Given the description of an element on the screen output the (x, y) to click on. 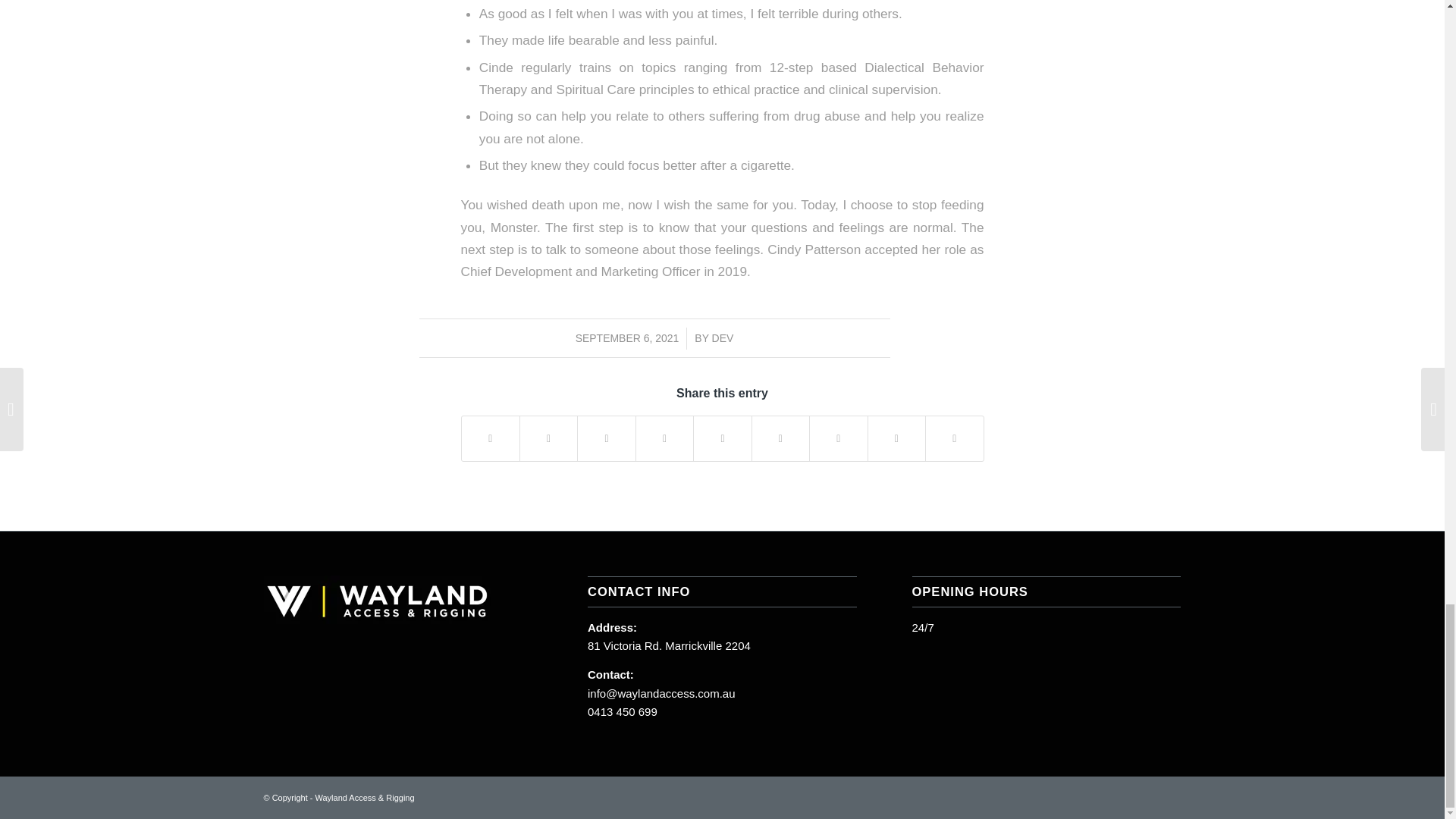
0413 450 699 (623, 711)
DEV (722, 337)
Posts by dev (722, 337)
